Given the description of an element on the screen output the (x, y) to click on. 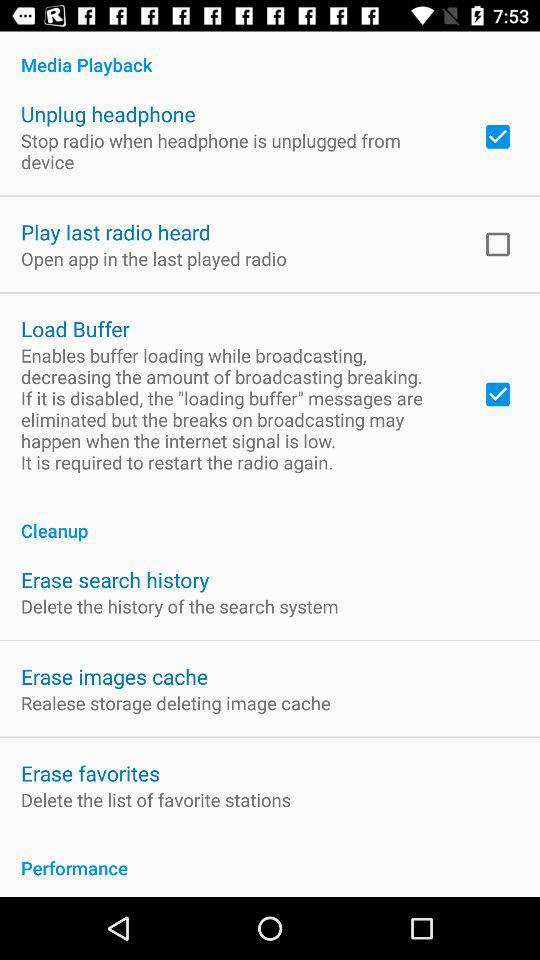
turn off the app below the open app in (75, 328)
